Given the description of an element on the screen output the (x, y) to click on. 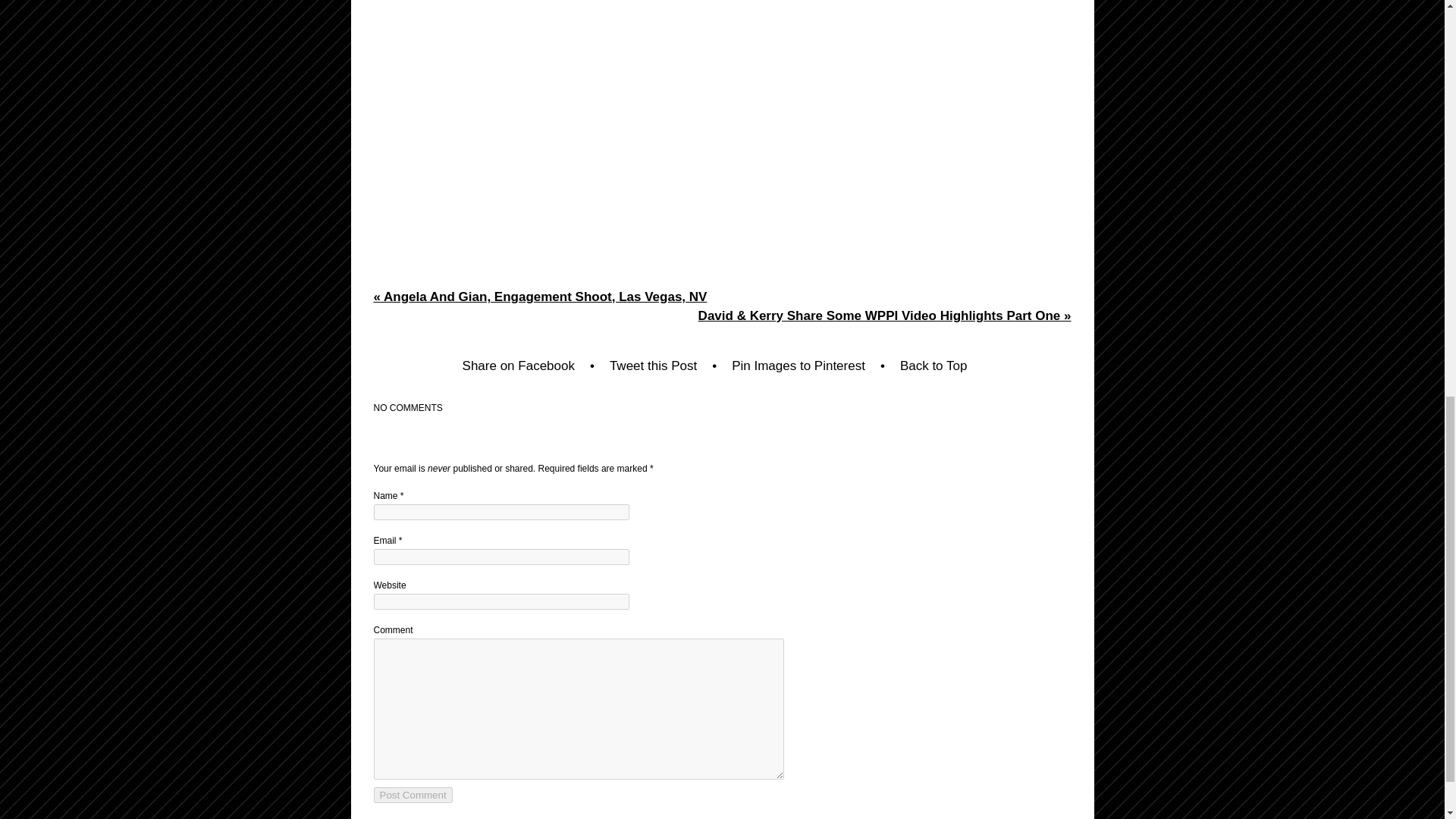
Post Comment (411, 795)
